Given the description of an element on the screen output the (x, y) to click on. 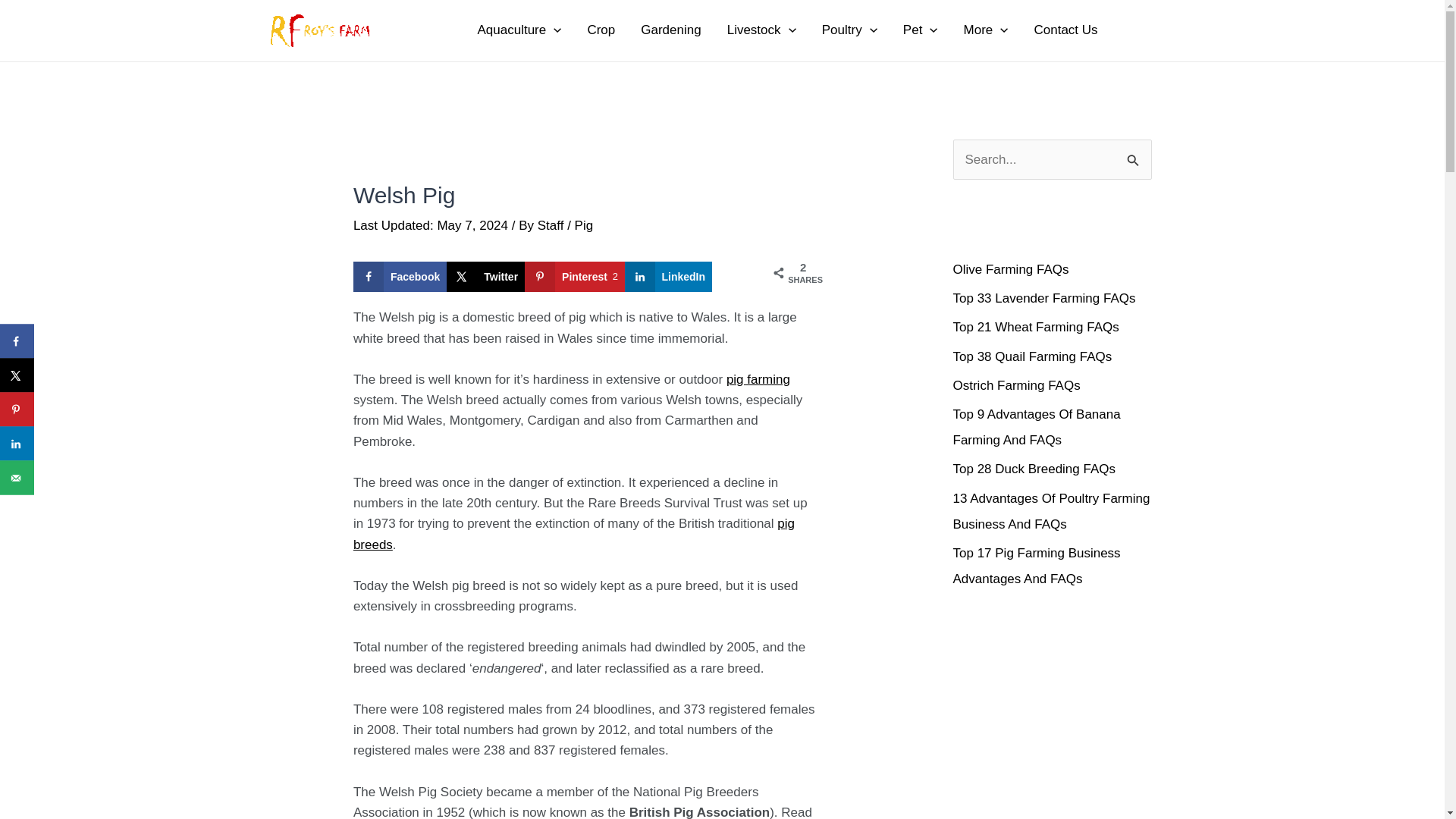
Search (1134, 155)
Livestock (761, 30)
Share on LinkedIn (668, 276)
Crop (600, 30)
Poultry (849, 30)
More (986, 30)
Pet (919, 30)
Save to Pinterest (574, 276)
Gardening (670, 30)
Share on X (485, 276)
Share on Facebook (399, 276)
View all posts by Staff (552, 225)
Search (1134, 155)
Aquaculture (518, 30)
